Given the description of an element on the screen output the (x, y) to click on. 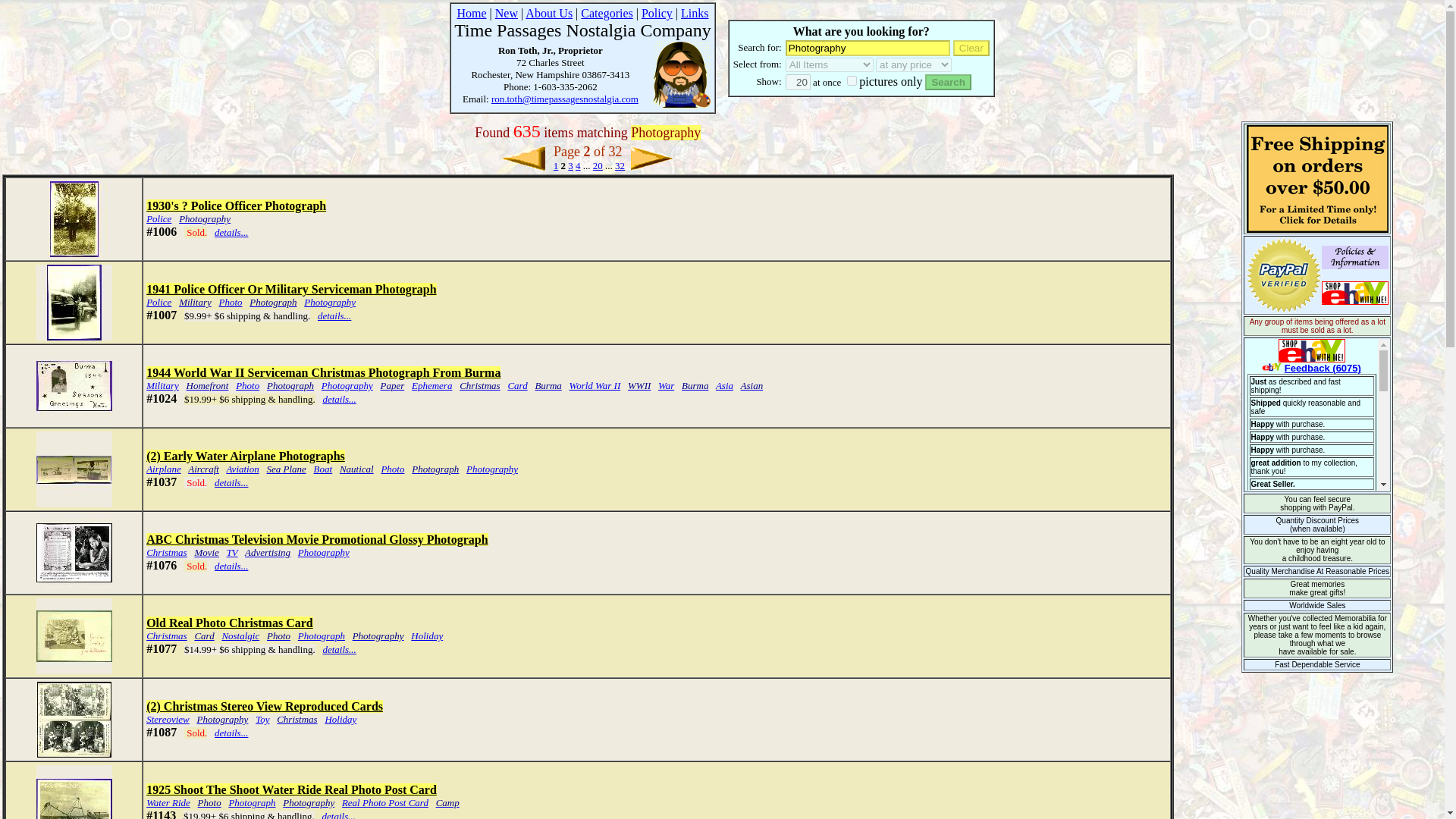
1944 World War II Serviceman Christmas Photograph From Burma (323, 372)
Sold. (195, 232)
Military (195, 301)
Search (947, 82)
Paper (392, 385)
Homefront (207, 385)
Police (159, 218)
previous page (522, 157)
1930's ? Police Officer Photograph (236, 205)
Photograph (290, 385)
Categories (605, 12)
Policy (657, 12)
New (506, 12)
Search (947, 82)
next page (652, 157)
